Given the description of an element on the screen output the (x, y) to click on. 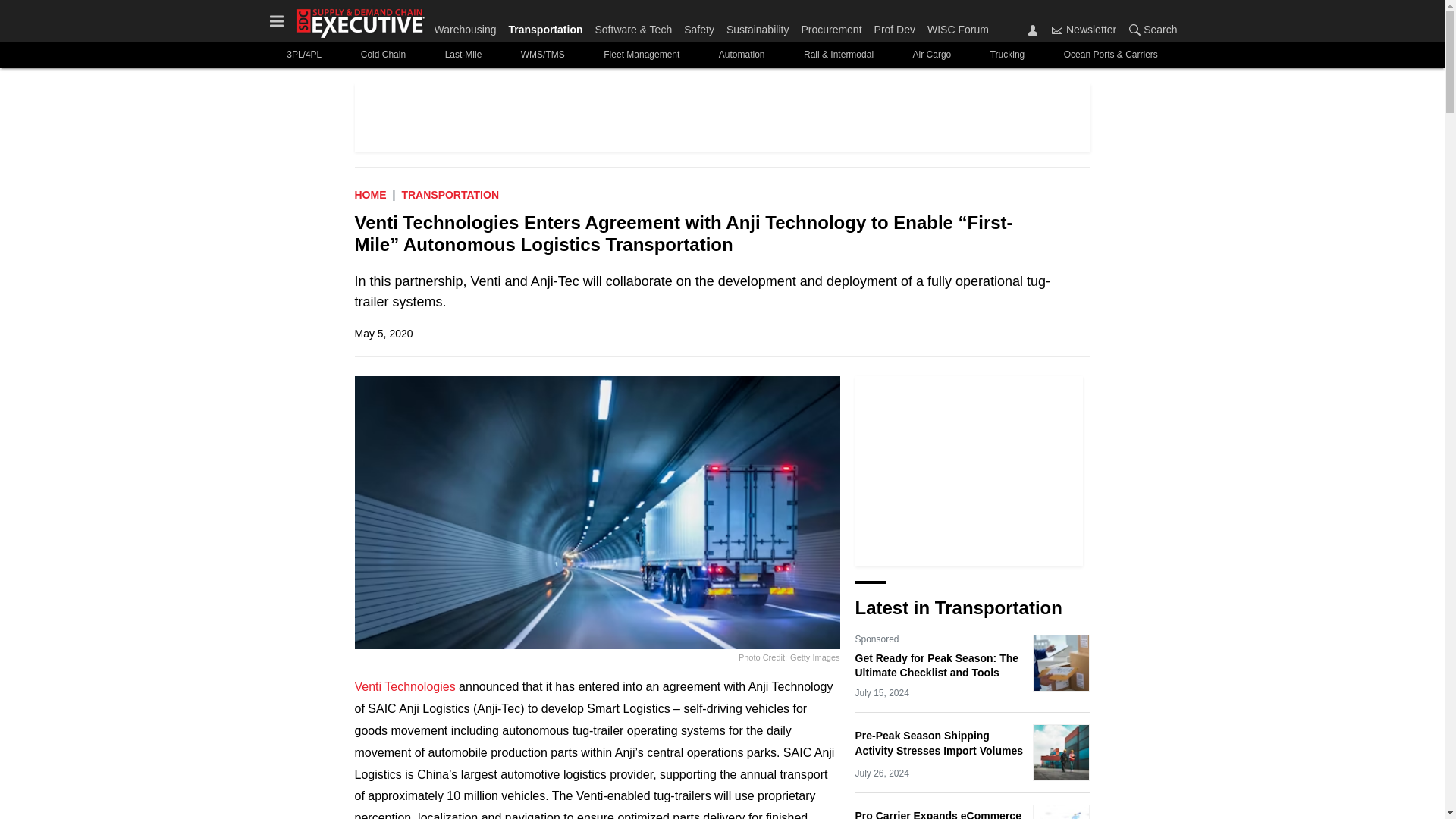
Air Cargo (931, 54)
Sign In (1032, 29)
Transportation (450, 194)
Sponsored (877, 639)
Newsletter (1083, 29)
Trucking (1007, 54)
3rd party ad content (969, 470)
Procurement (830, 26)
Prof Dev (894, 26)
Newsletter (1056, 29)
Automation (740, 54)
Sustainability (757, 26)
Home (371, 194)
Search (1134, 29)
Transportation (545, 26)
